Given the description of an element on the screen output the (x, y) to click on. 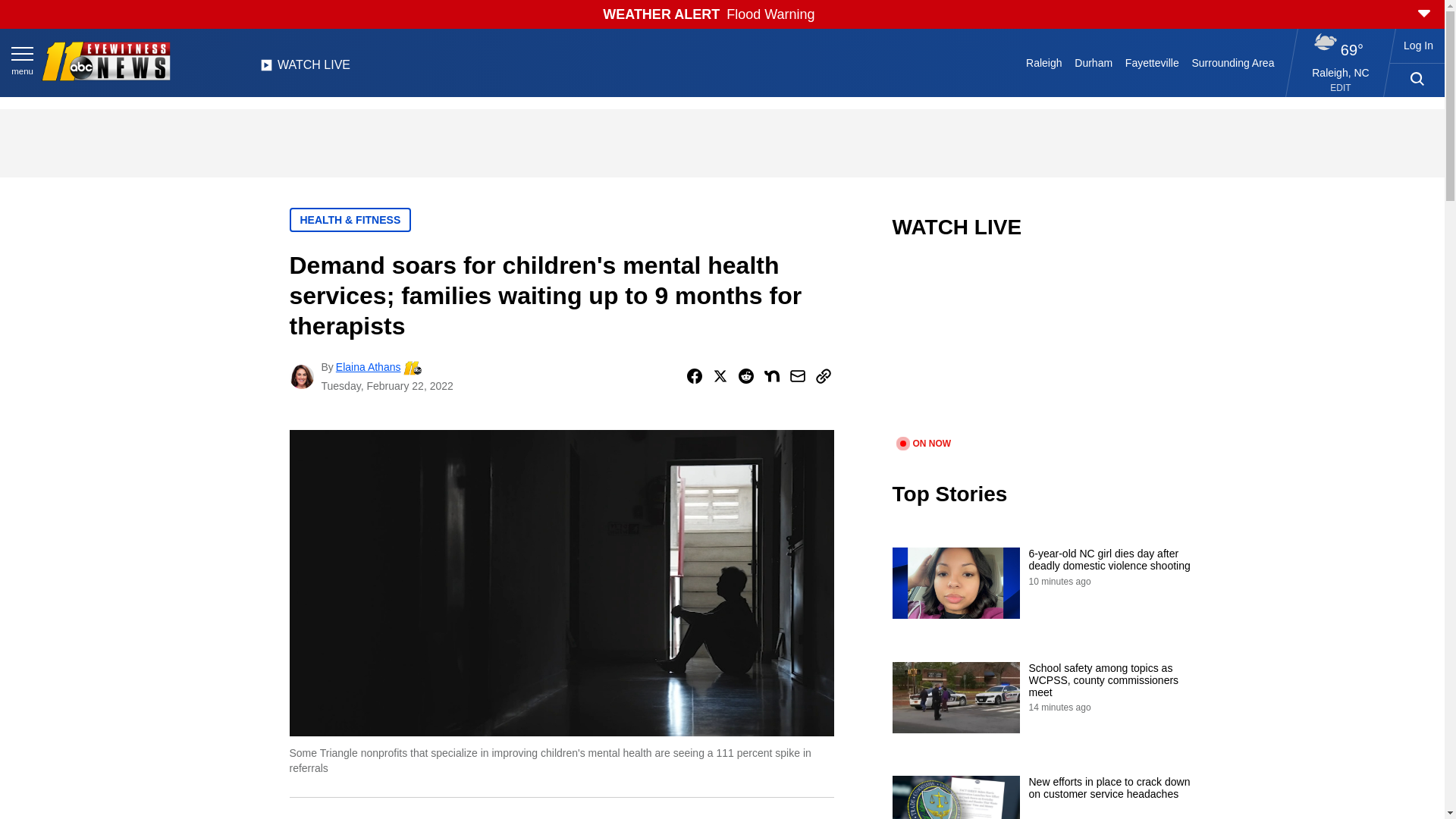
Raleigh, NC (1340, 72)
video.title (1043, 347)
Fayetteville (1151, 62)
EDIT (1340, 87)
WATCH LIVE (305, 69)
Raleigh (1044, 62)
Durham (1093, 62)
Surrounding Area (1233, 62)
